Given the description of an element on the screen output the (x, y) to click on. 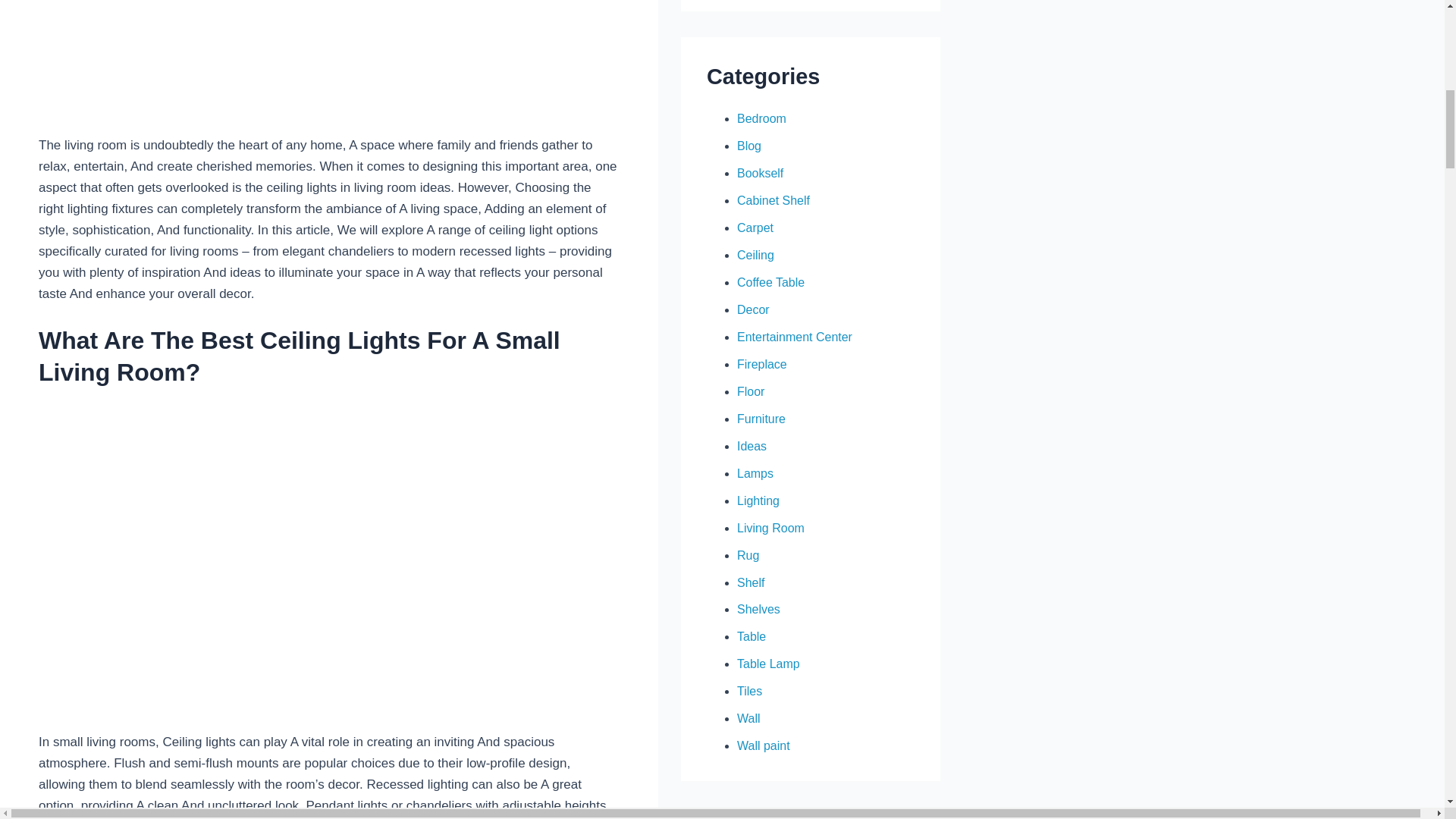
Carpet (754, 227)
Coffee Table (770, 282)
Ceiling (755, 254)
Blog (748, 145)
Entertainment Center (793, 336)
Bedroom (761, 118)
Bookself (759, 173)
Cabinet Shelf (772, 200)
Decor (753, 309)
